Given the description of an element on the screen output the (x, y) to click on. 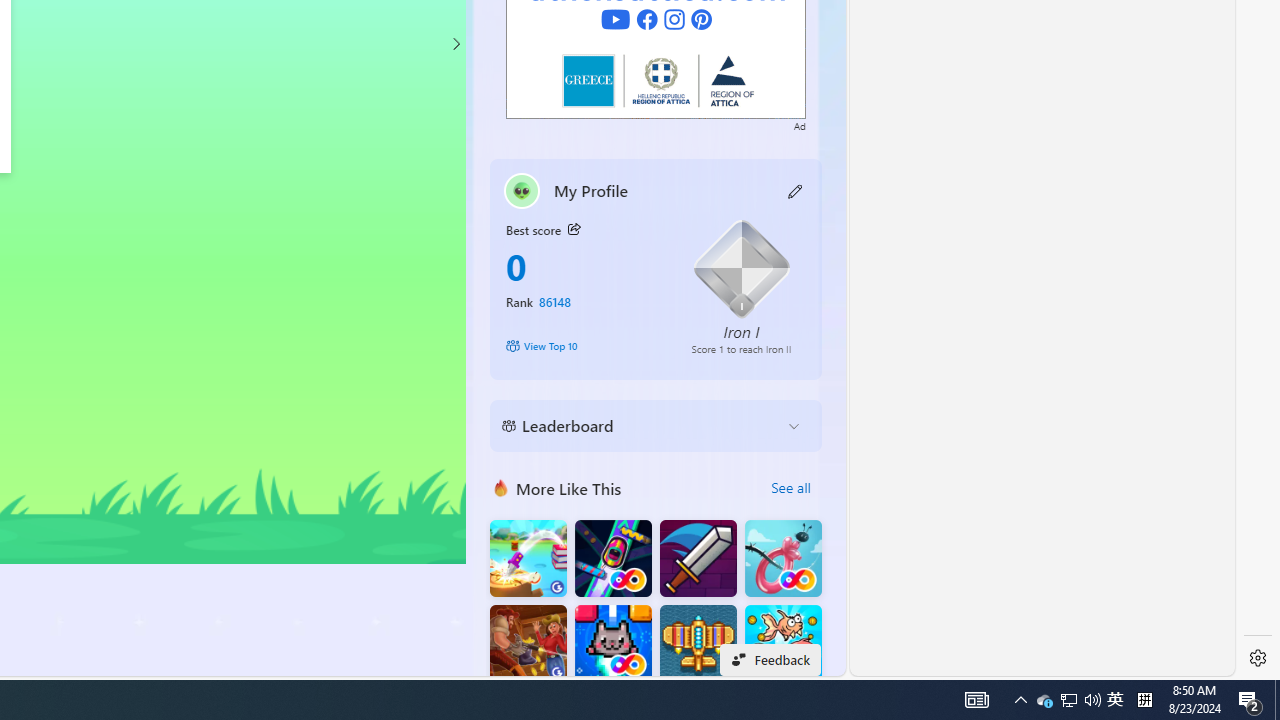
See all (790, 487)
Atlantic Sky Hunter (698, 643)
View Top 10 (584, 345)
Class: control (455, 43)
Bumper Car FRVR (612, 558)
